Given the description of an element on the screen output the (x, y) to click on. 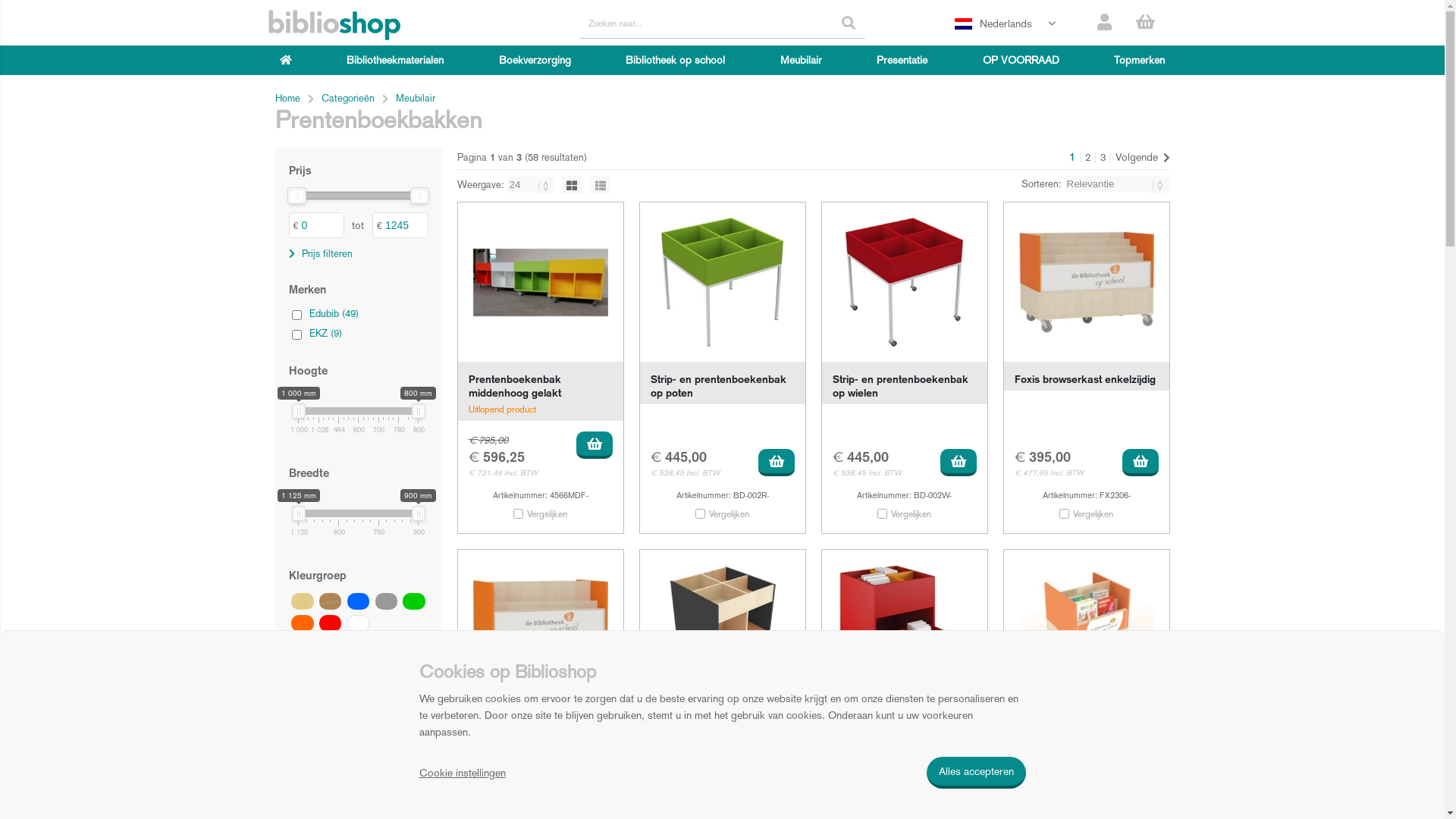
Toevoegen aan winkelmandje Element type: hover (1140, 775)
Wit (8) Element type: hover (358, 623)
Strip- en prentenboekenbak op wielen Element type: hover (904, 281)
Ahorn (8) Element type: hover (302, 601)
Foxis browserkast smal dubbelzijdig Element type: text (1070, 733)
Toevoegen aan winkelmandje Element type: hover (958, 462)
Toevoegen aan winkelmandje Element type: hover (776, 775)
Bibliotheek op school Element type: text (675, 59)
Prentenboekenbak dubbelzijdig 3x4 vakken Element type: hover (722, 629)
Prentenboekenbak middenhoog gelakt Element type: text (514, 385)
Bilderbuchtrog Element type: text (867, 726)
Toevoegen aan winkelmandje Element type: hover (594, 444)
Oranje (8) Element type: hover (302, 623)
Foxis browserkast enkelzijdig Element type: text (1084, 379)
Boekverzorging Element type: text (534, 59)
Toevoegen aan winkelmandje Element type: hover (776, 462)
Meubilair Element type: text (415, 97)
Presentatie Element type: text (901, 59)
Topmerken Element type: text (1138, 59)
OP VOORRAAD Element type: text (1020, 59)
Strip- en prentenboekenbak op wielen Element type: text (900, 385)
Rood (8) Element type: hover (330, 623)
Blauw (8) Element type: hover (358, 601)
Cookie instellingen Element type: text (461, 772)
Prentenboekenbak middenhoog gelakt Element type: hover (540, 281)
Groen (8) Element type: hover (413, 601)
Toevoegen aan winkelmandje Element type: hover (1140, 462)
on Element type: text (296, 315)
on Element type: text (700, 513)
Alles accepteren Element type: text (976, 772)
Strip- en prentenboekenbak op poten Element type: text (718, 385)
3 Element type: text (1102, 157)
1 Element type: text (1072, 156)
Toevoegen aan winkelmandje Element type: hover (594, 775)
Prentenboekenbak dubbelzijdig 3x4 vakken Element type: text (708, 733)
on Element type: text (882, 513)
Bilderbuchtrog Element type: hover (904, 629)
Home Element type: text (286, 97)
Biblioshop-BE Element type: hover (333, 25)
on Element type: text (296, 334)
Foxis browserkast smal dubbelzijdig Element type: hover (1086, 629)
2 Element type: text (1087, 157)
Grijs (8) Element type: hover (386, 601)
Strip- en prentenboekenbak op poten Element type: hover (722, 281)
Volgende Element type: text (1139, 156)
Foxis browserkast dubbelzijdig Element type: text (511, 733)
Meubilair Element type: text (801, 59)
Foxis browserkast enkelzijdig Element type: hover (1086, 281)
Bibliotheekmaterialen Element type: text (394, 59)
Beuken (8) Element type: hover (330, 601)
on Element type: text (1064, 513)
on Element type: text (518, 513)
Foxis browserkast dubbelzijdig Element type: hover (540, 629)
Toevoegen aan winkelmandje Element type: hover (958, 775)
